Given the description of an element on the screen output the (x, y) to click on. 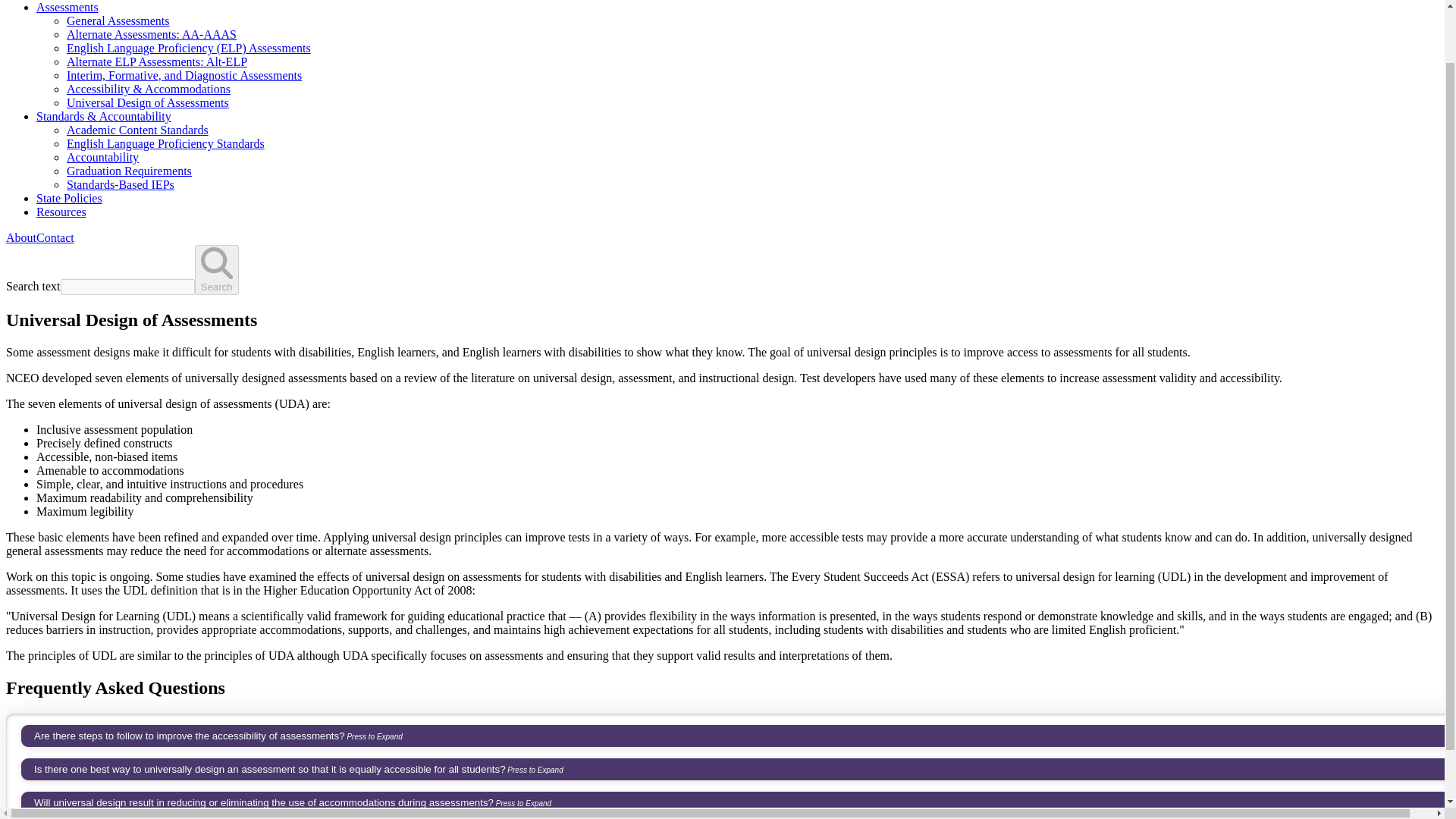
Graduation Requirements (129, 170)
Accountability (102, 156)
General Assessments (118, 20)
Academic Content Standards (137, 129)
Alternate Assessments: AA-AAAS (150, 33)
Resources (60, 211)
Interim, Formative, and Diagnostic Assessments (183, 74)
Standards-Based IEPs (120, 184)
